Given the description of an element on the screen output the (x, y) to click on. 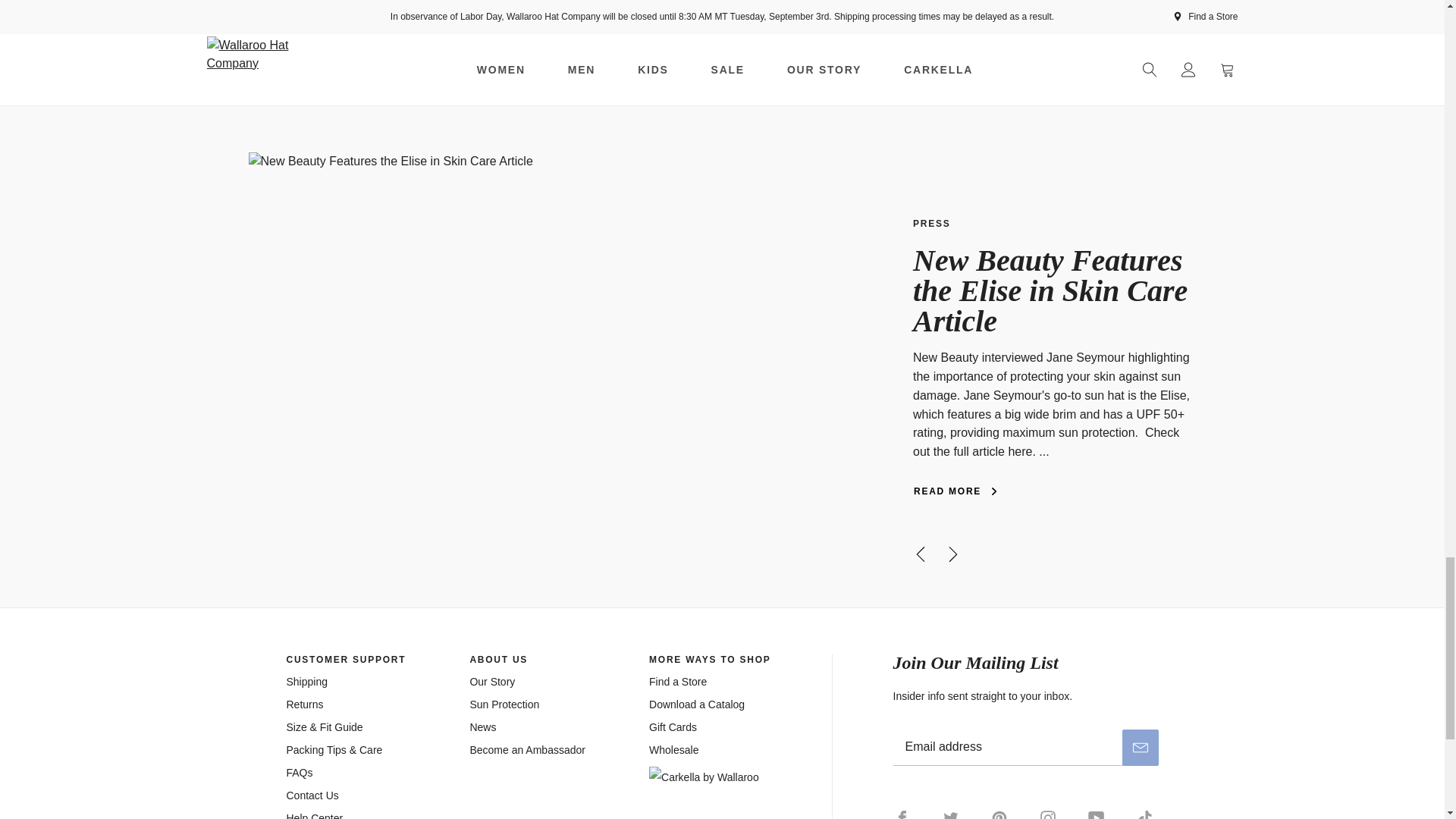
Wallaroo Hat Company on YouTube (1096, 813)
Wallaroo Hat Company on Instagram (1047, 813)
Wallaroo Hat Company on Twitter (950, 813)
Wallaroo Hat Company on Facebook (909, 813)
Wallaroo Hat Company on Pinterest (999, 813)
Wallaroo Hat Company on TikTok (1145, 813)
